Given the description of an element on the screen output the (x, y) to click on. 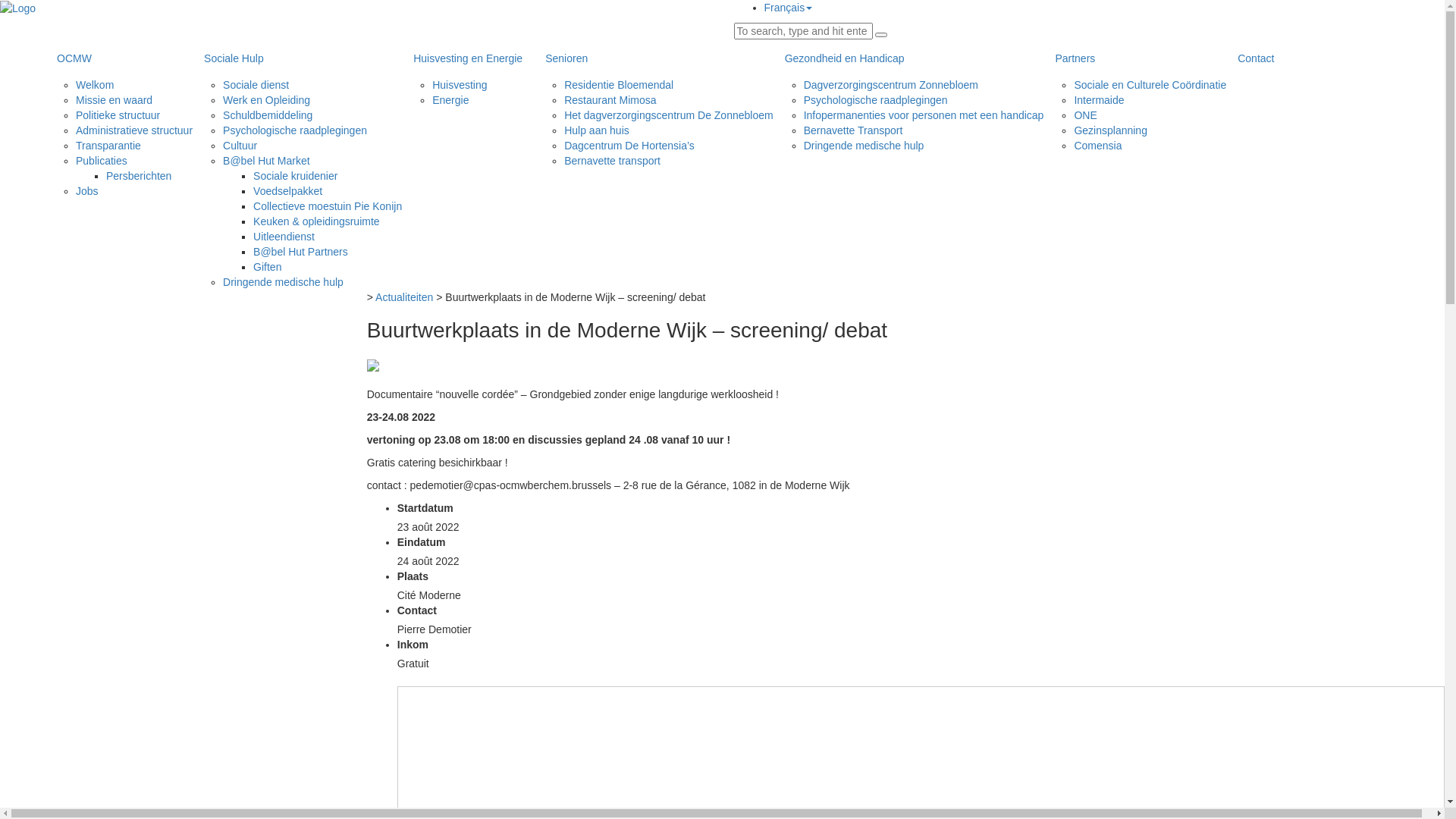
Psychologische raadplegingen Element type: text (294, 130)
B@bel Hut Market Element type: text (266, 160)
Keuken & opleidingsruimte Element type: text (316, 221)
OCMW Element type: text (118, 58)
B@bel Hut Partners Element type: text (300, 251)
Publicaties Element type: text (101, 160)
Jobs Element type: text (86, 191)
Infopermanenties voor personen met een handicap Element type: text (923, 115)
Transparantie Element type: text (108, 145)
ONE Element type: text (1084, 115)
Persberichten Element type: text (138, 175)
Voedselpakket Element type: text (287, 191)
Sociale Hulp Element type: text (296, 58)
Cultuur Element type: text (239, 145)
Residentie Bloemendal Element type: text (618, 84)
Uitleendienst Element type: text (283, 236)
Psychologische raadplegingen Element type: text (875, 100)
Huisvesting Element type: text (459, 84)
Comensia Element type: text (1097, 145)
Gezondheid en Handicap Element type: text (908, 58)
Contact Element type: text (1255, 58)
Restaurant Mimosa Element type: text (609, 100)
Missie en waard Element type: text (113, 100)
Huisvesting en Energie Element type: text (467, 58)
Sociale kruidenier Element type: text (295, 175)
Dringende medische hulp Element type: text (863, 145)
Werk en Opleiding Element type: text (266, 100)
Collectieve moestuin Pie Konijn Element type: text (327, 206)
Schuldbemiddeling Element type: text (267, 115)
Dringende medische hulp Element type: text (282, 282)
Intermaide Element type: text (1098, 100)
Giften Element type: text (267, 266)
Gezinsplanning Element type: text (1110, 130)
Het dagverzorgingscentrum De Zonnebloem Element type: text (668, 115)
Welkom Element type: text (94, 84)
Dagverzorgingscentrum Zonnebloem Element type: text (890, 84)
Hulp aan huis Element type: text (596, 130)
Politieke structuur Element type: text (117, 115)
Actualiteiten Element type: text (404, 297)
Administratieve structuur Element type: text (133, 130)
Bernavette transport Element type: text (612, 160)
Partners Element type: text (1134, 58)
Senioren Element type: text (652, 58)
Sociale dienst Element type: text (255, 84)
Bernavette Transport Element type: text (853, 130)
Energie Element type: text (450, 100)
